Given the description of an element on the screen output the (x, y) to click on. 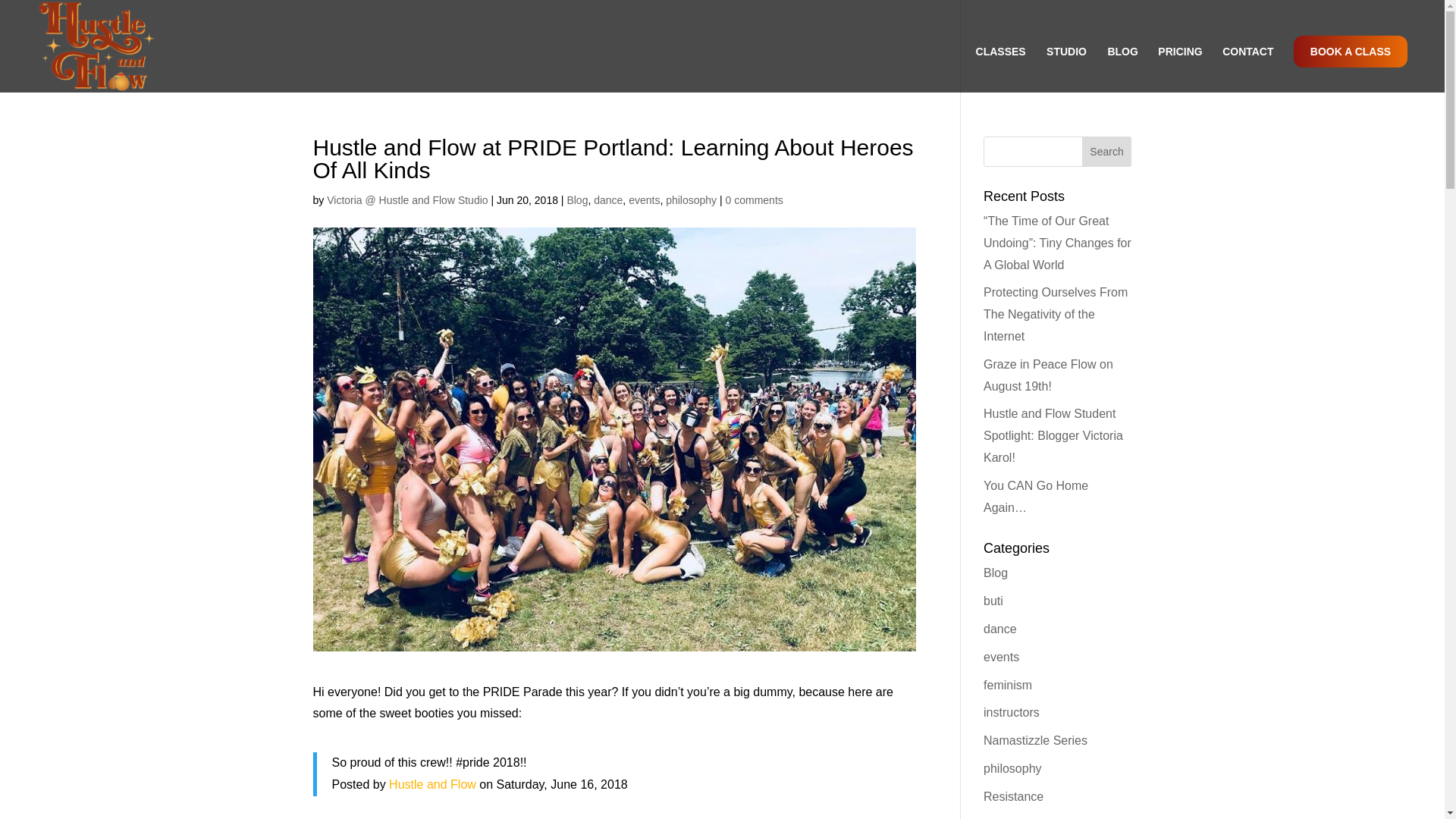
BOOK A CLASS (1350, 69)
Search (1106, 151)
CONTACT (1247, 68)
PRICING (1179, 68)
philosophy (690, 200)
Blog (577, 200)
STUDIO (1074, 68)
dance (608, 200)
BLOG (1121, 68)
events (643, 200)
CLASSES (1008, 68)
